Given the description of an element on the screen output the (x, y) to click on. 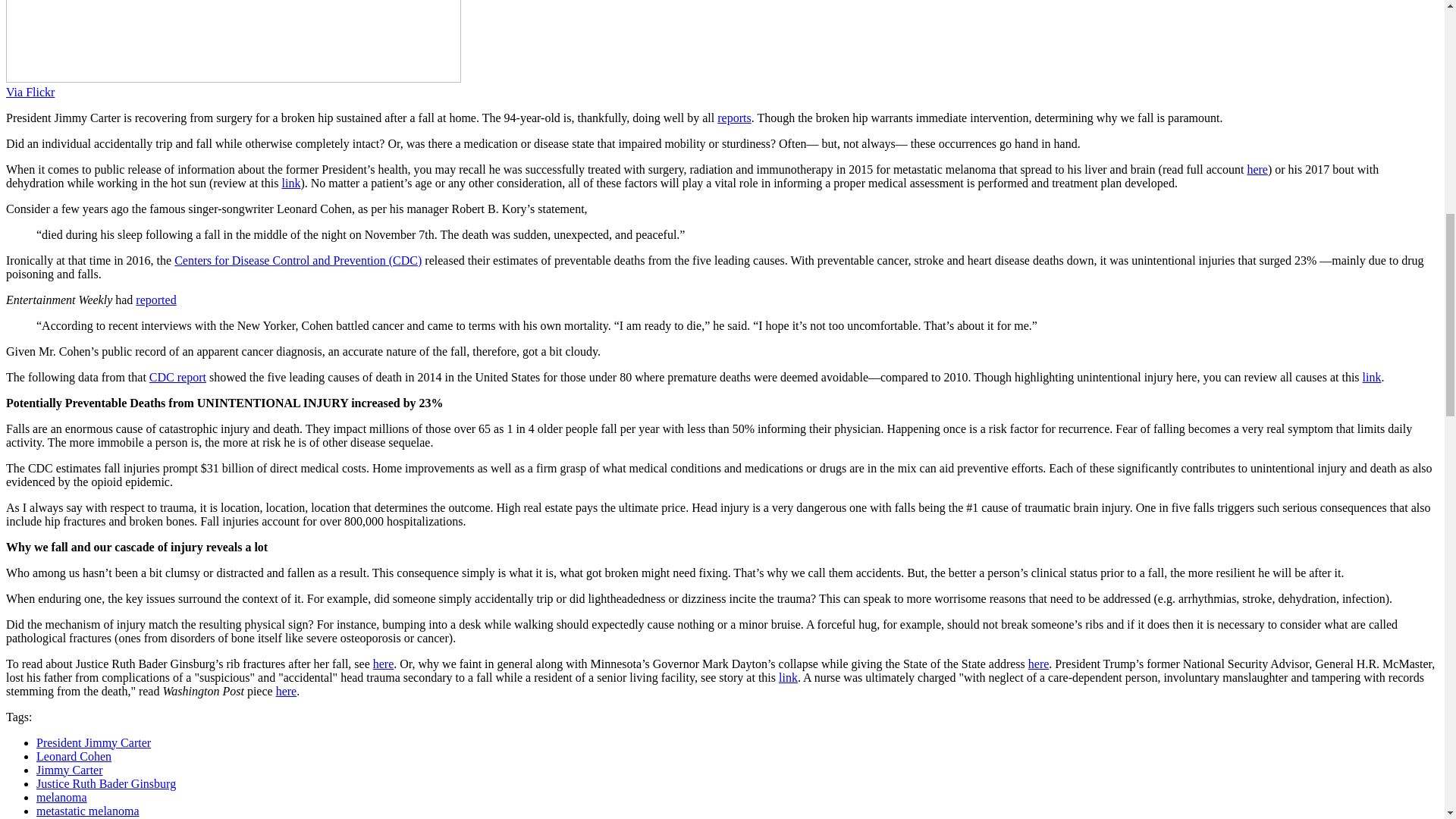
CDC report (177, 377)
reports (734, 117)
Via Flickr (30, 91)
link (290, 182)
reported (155, 299)
here (1257, 169)
